Given the description of an element on the screen output the (x, y) to click on. 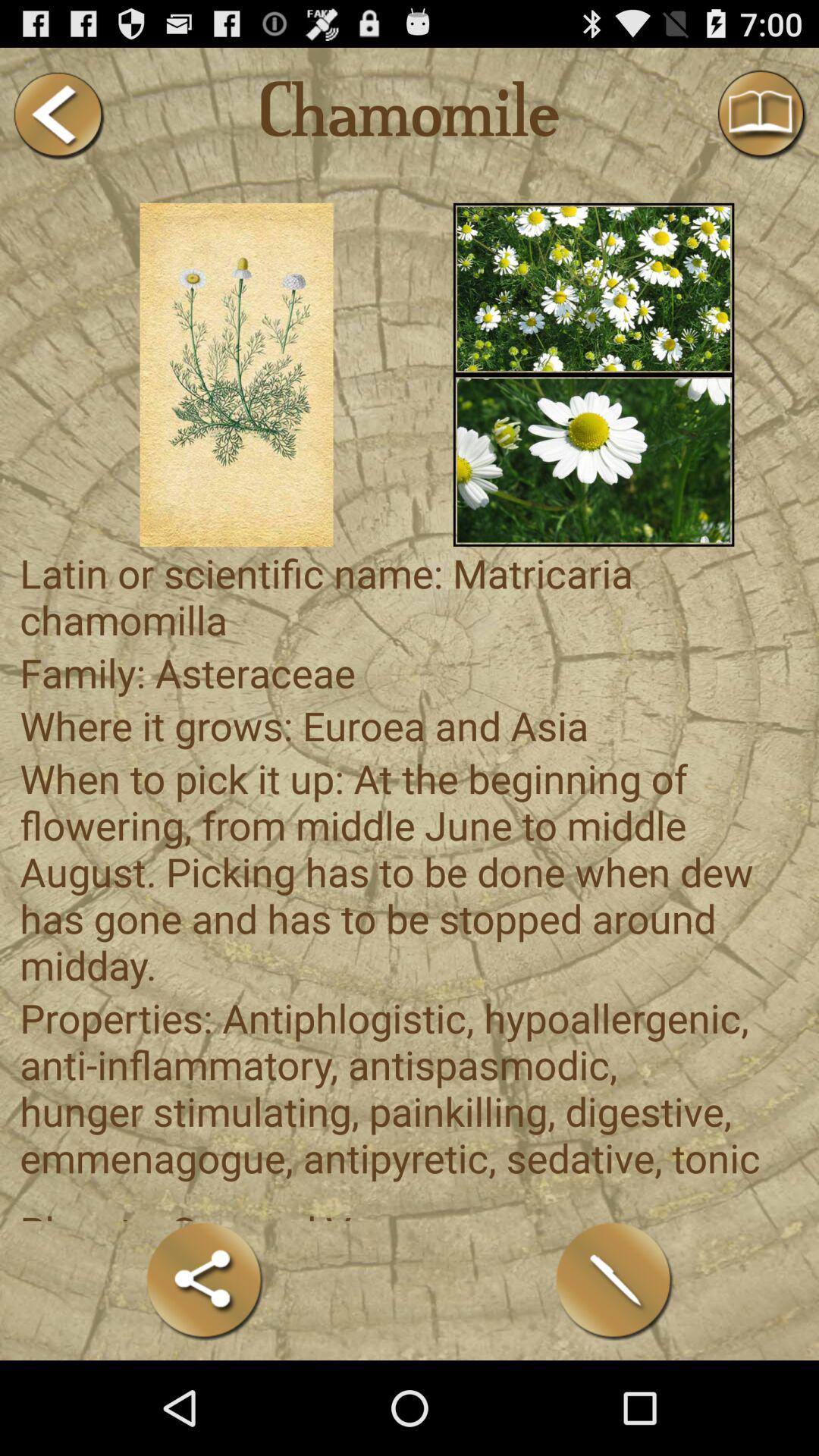
turn off the item below planets sun and app (204, 1280)
